Given the description of an element on the screen output the (x, y) to click on. 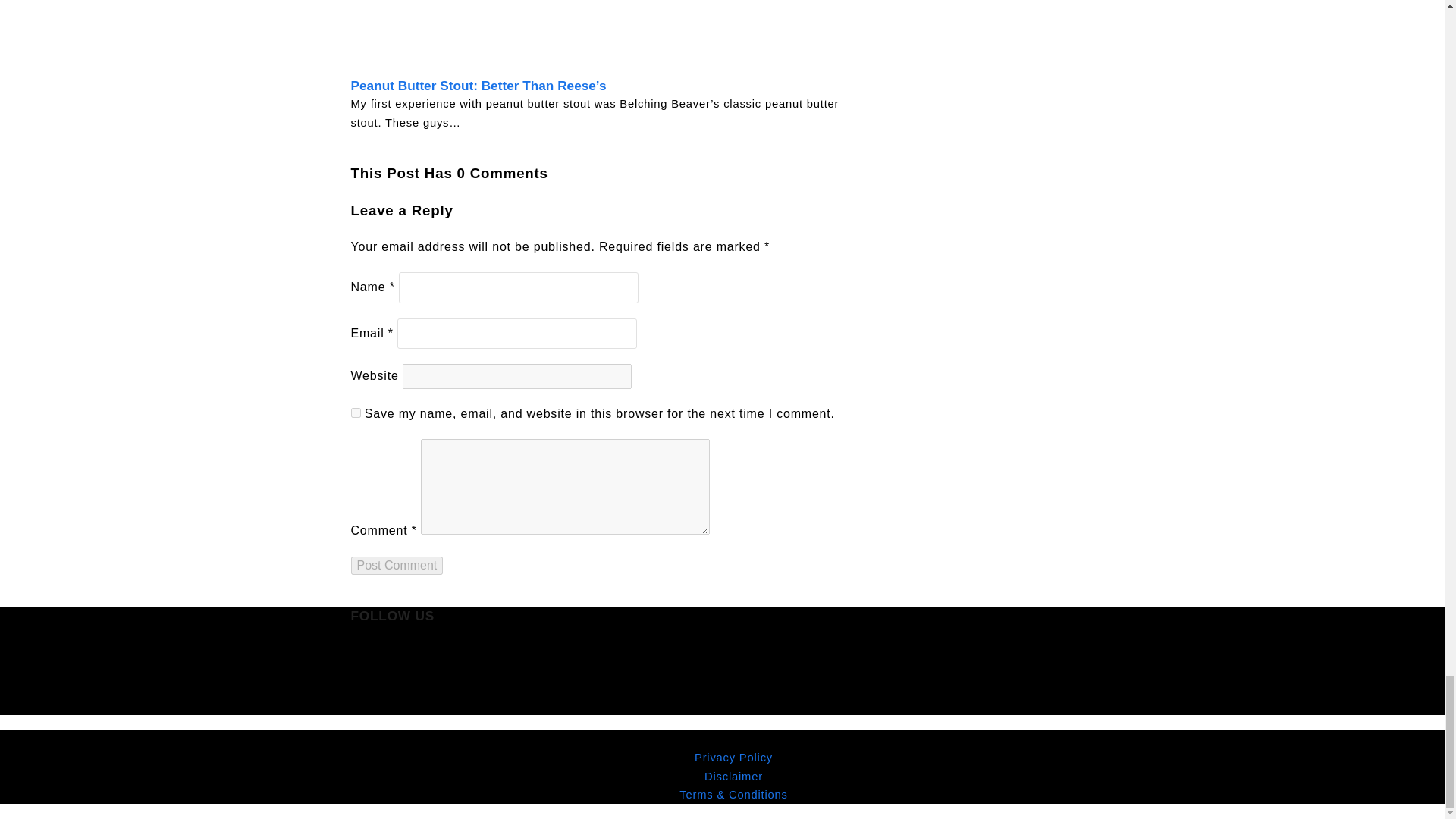
Post Comment (396, 565)
Post Comment (396, 565)
yes (354, 412)
